Given the description of an element on the screen output the (x, y) to click on. 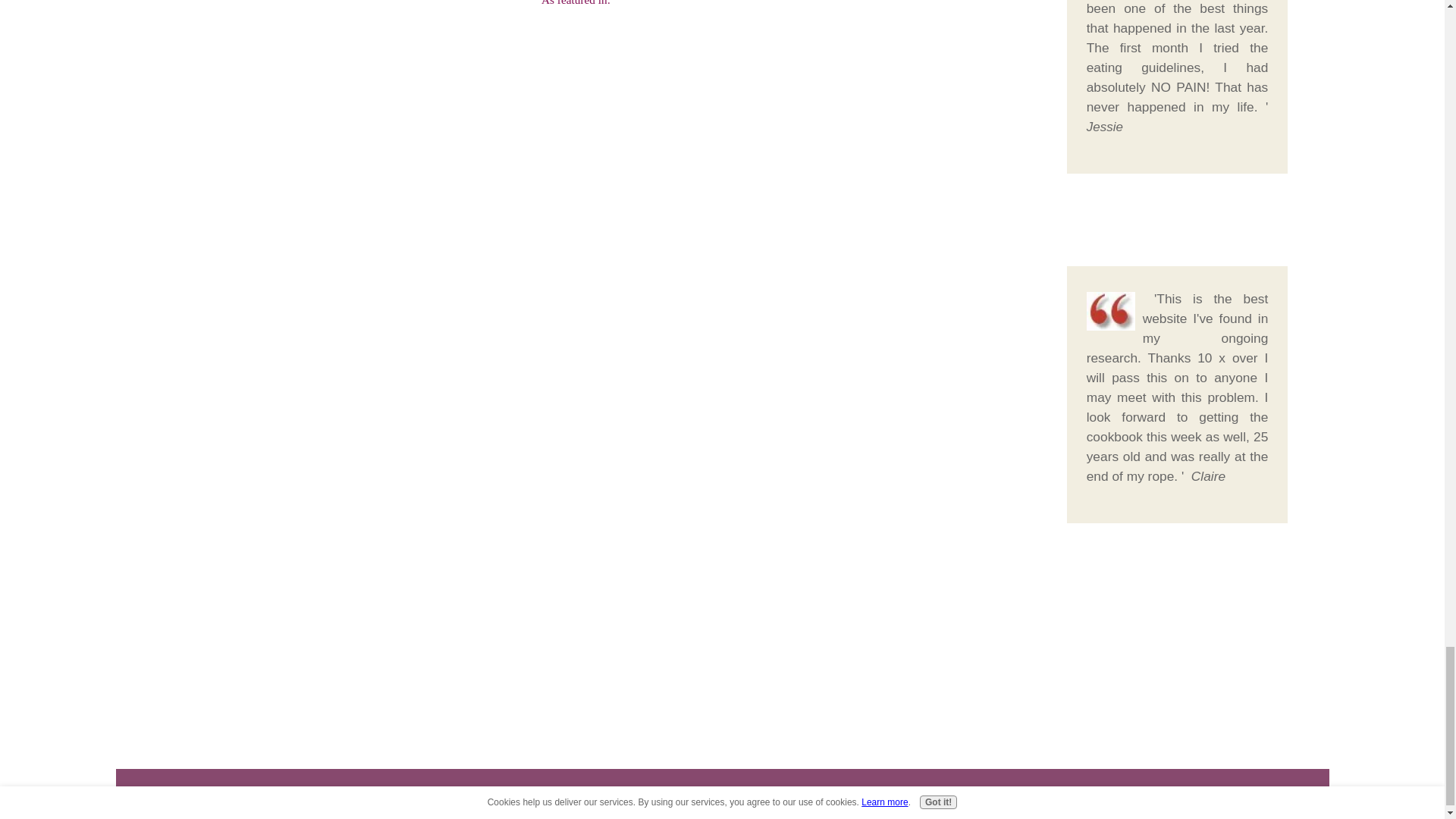
DMCA.com Protection Status (721, 798)
